Given the description of an element on the screen output the (x, y) to click on. 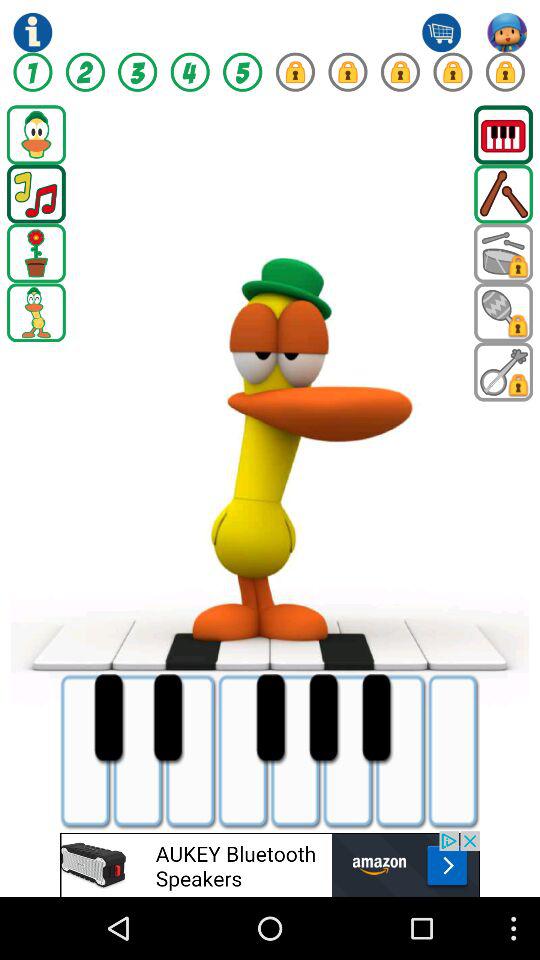
game page (400, 71)
